Given the description of an element on the screen output the (x, y) to click on. 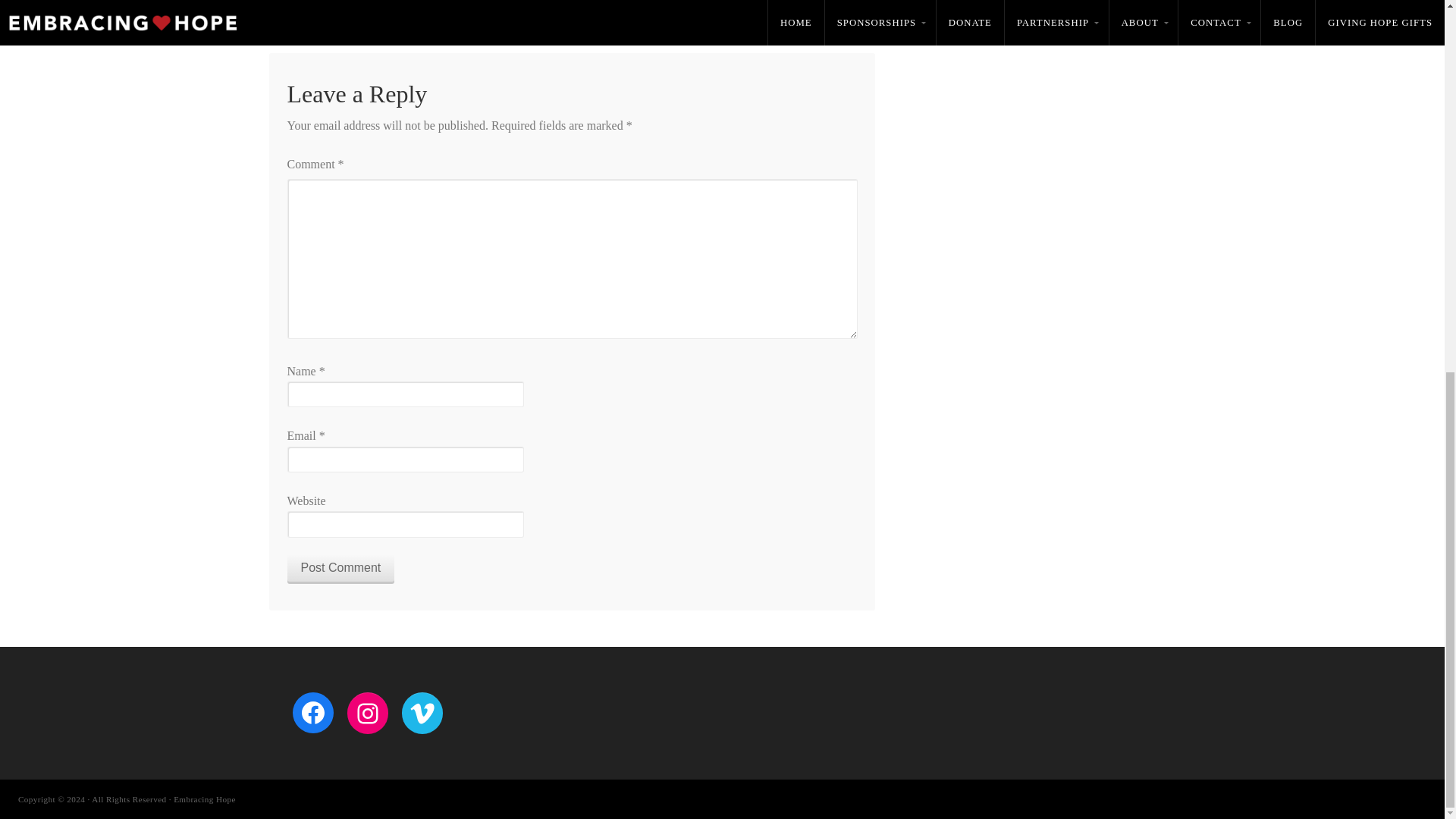
Sad News (304, 25)
Post Comment (340, 567)
Merry Christmas!! (819, 25)
Post Comment (340, 567)
Instagram (367, 712)
Vimeo (421, 712)
Facebook (312, 712)
